Given the description of an element on the screen output the (x, y) to click on. 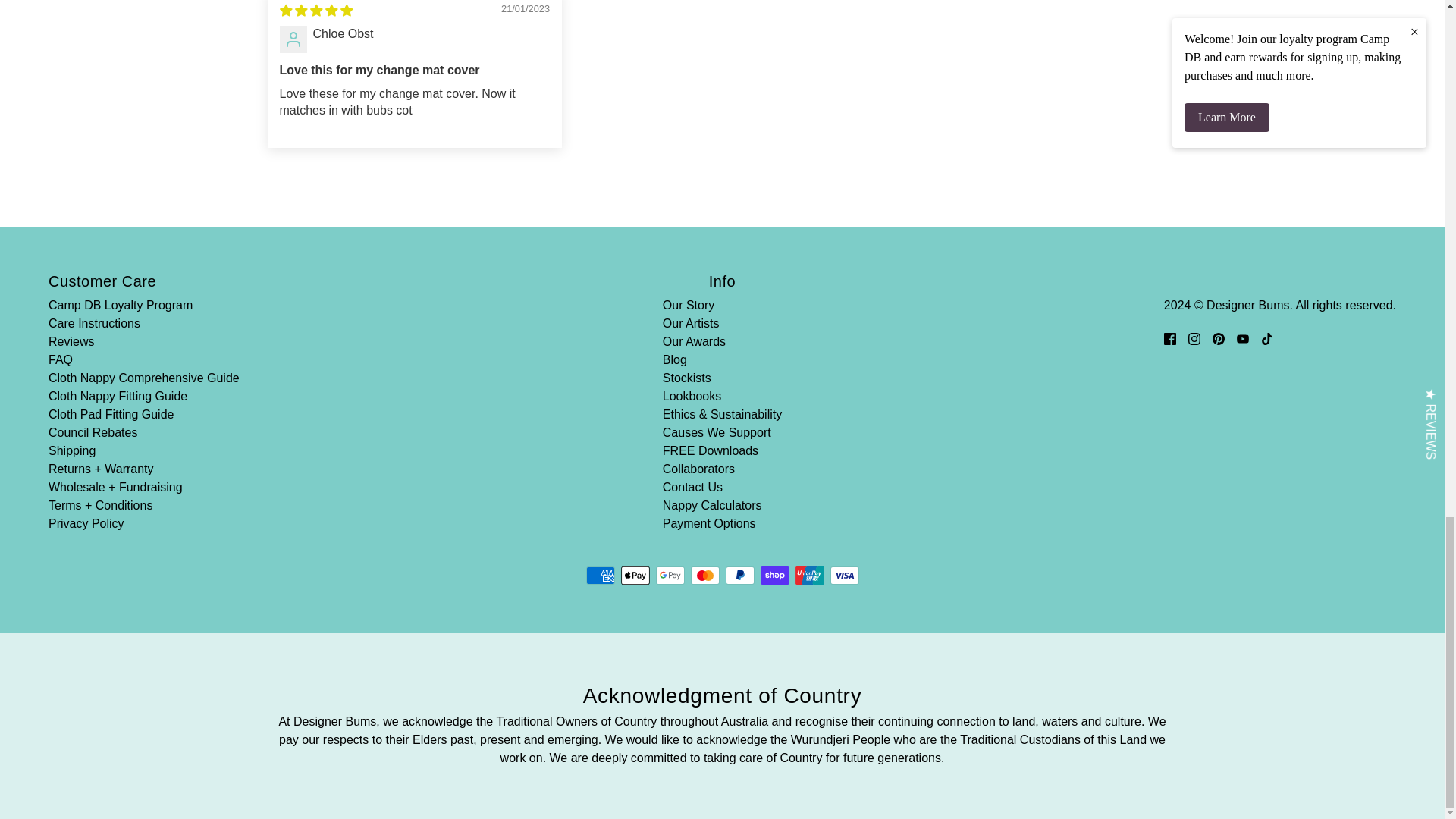
Shipping (72, 450)
Camp DB Loyalty Program (120, 305)
Cloth Nappy Fitting Guide (117, 395)
Our Awards (693, 341)
Cloth Nappy Comprehensive Guide (144, 377)
Council Rebates (92, 431)
Reviews (71, 341)
Care Instructions (93, 323)
Privacy Policy (85, 522)
Blog (674, 359)
Our Artists (690, 323)
FAQ (60, 359)
Stockists (686, 377)
Our Story (688, 305)
Cloth Pad Fitting Guide (110, 413)
